Given the description of an element on the screen output the (x, y) to click on. 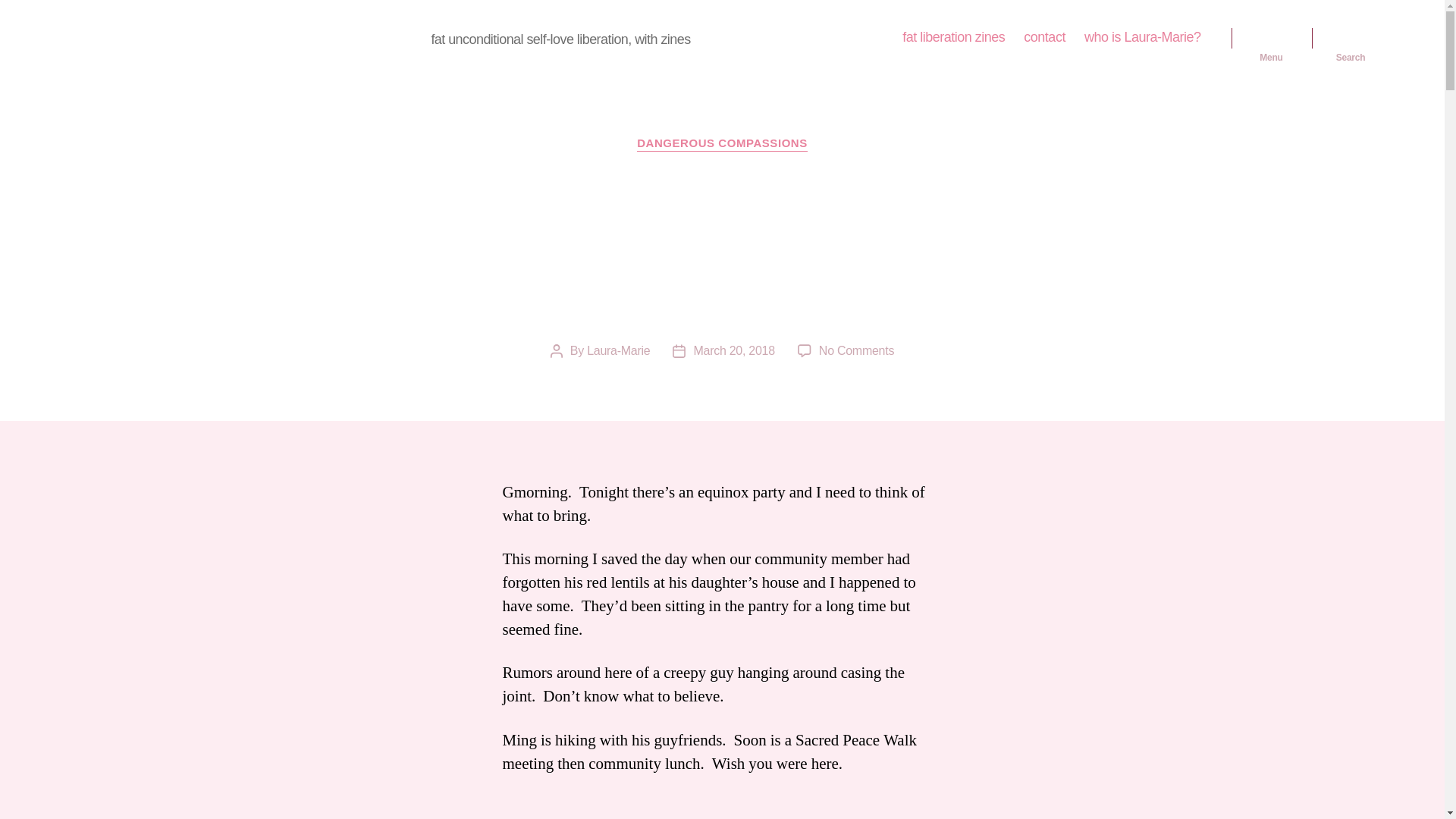
contact (1044, 37)
who is Laura-Marie? (1142, 37)
Search (1350, 37)
listening to the noise until it makes sense (248, 37)
fat liberation zines (953, 37)
Menu (1271, 37)
